Given the description of an element on the screen output the (x, y) to click on. 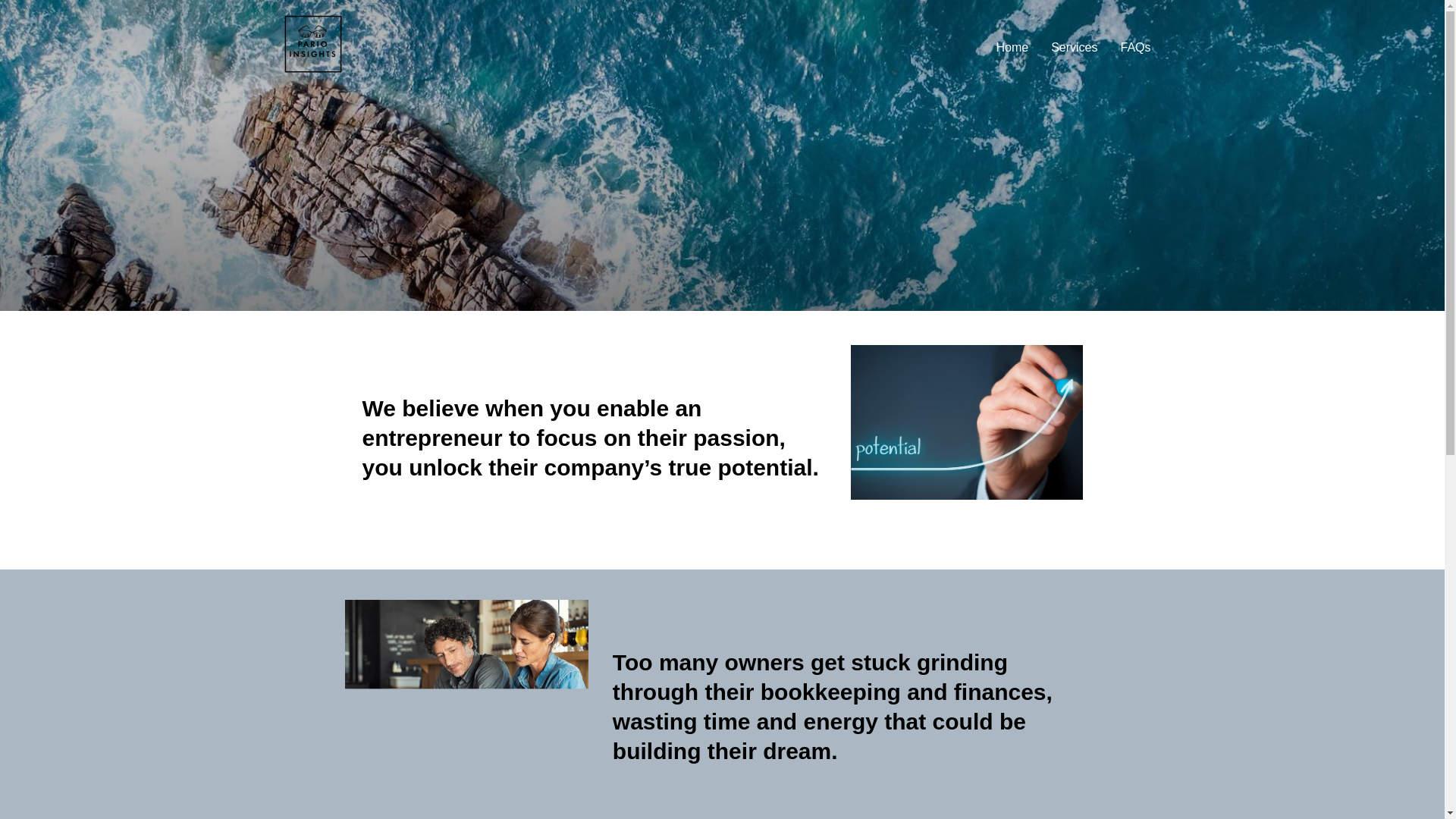
Home (1011, 47)
FAQs (1134, 47)
Services (1074, 47)
